Given the description of an element on the screen output the (x, y) to click on. 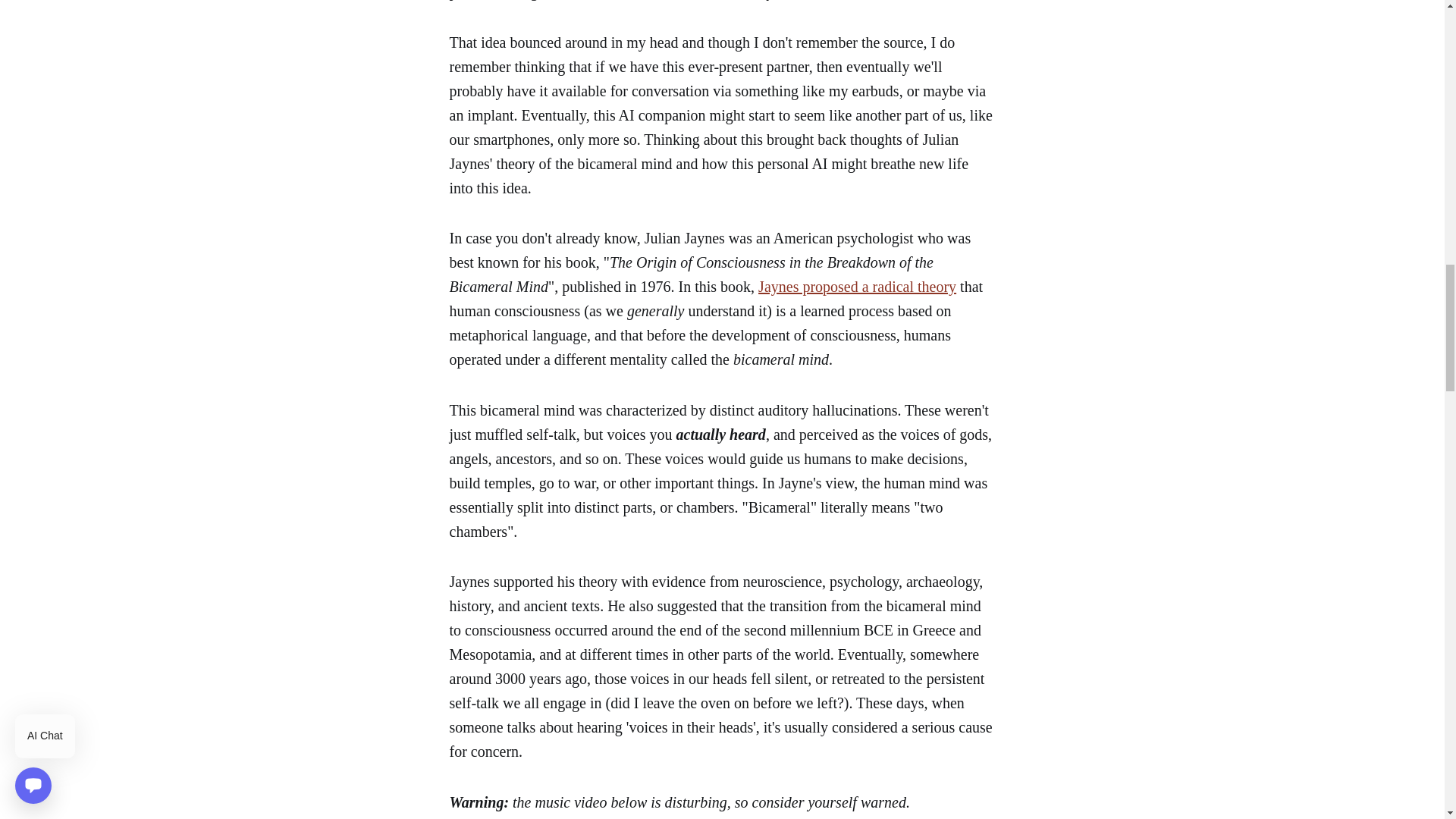
Jaynes proposed a radical theory (857, 286)
